Given the description of an element on the screen output the (x, y) to click on. 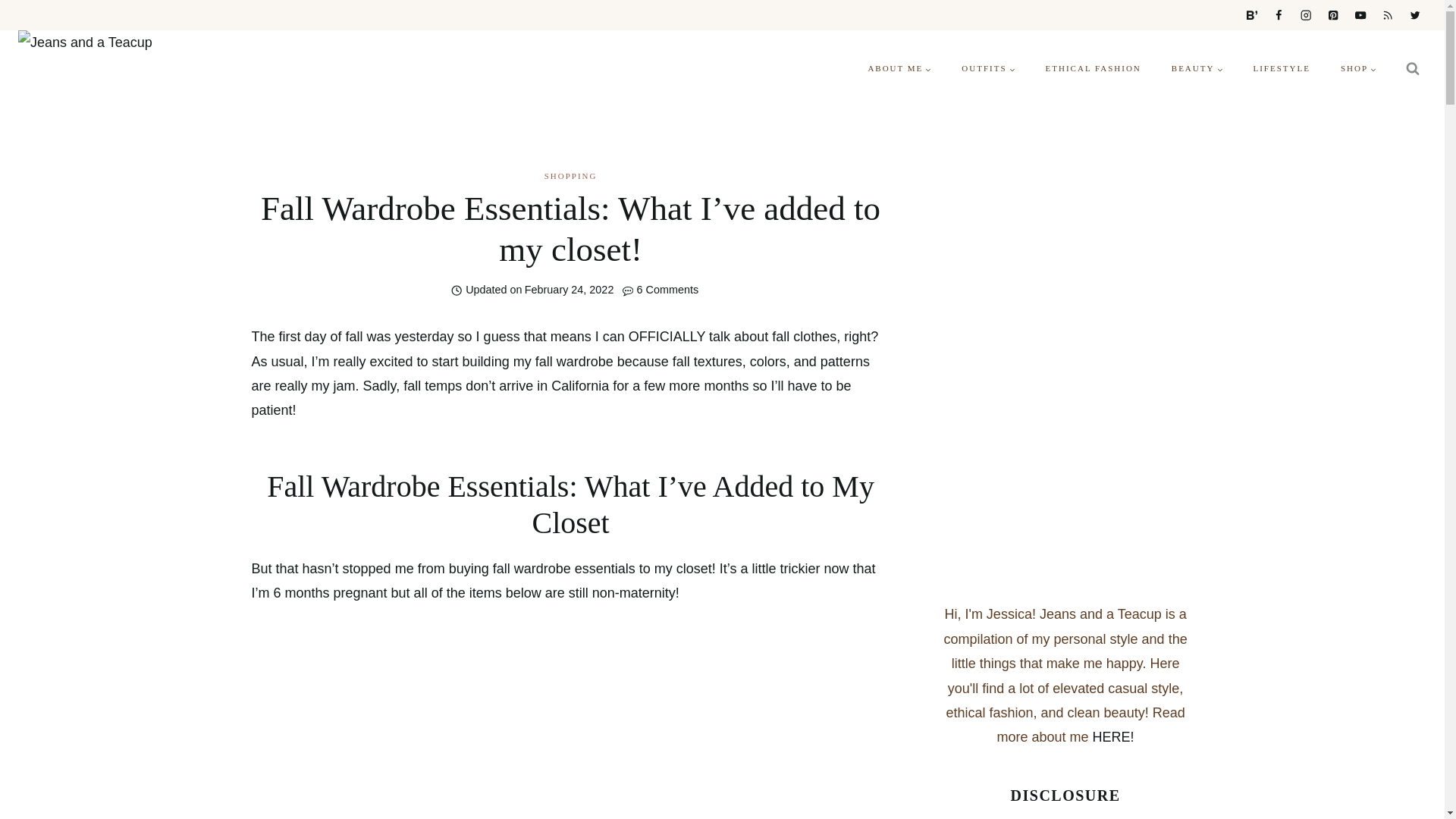
BEAUTY (1197, 69)
OUTFITS (987, 69)
LIFESTYLE (1280, 69)
ABOUT ME (898, 69)
SHOPPING (570, 175)
ETHICAL FASHION (1093, 69)
6 Comments (667, 290)
6 Comments (667, 290)
